Given the description of an element on the screen output the (x, y) to click on. 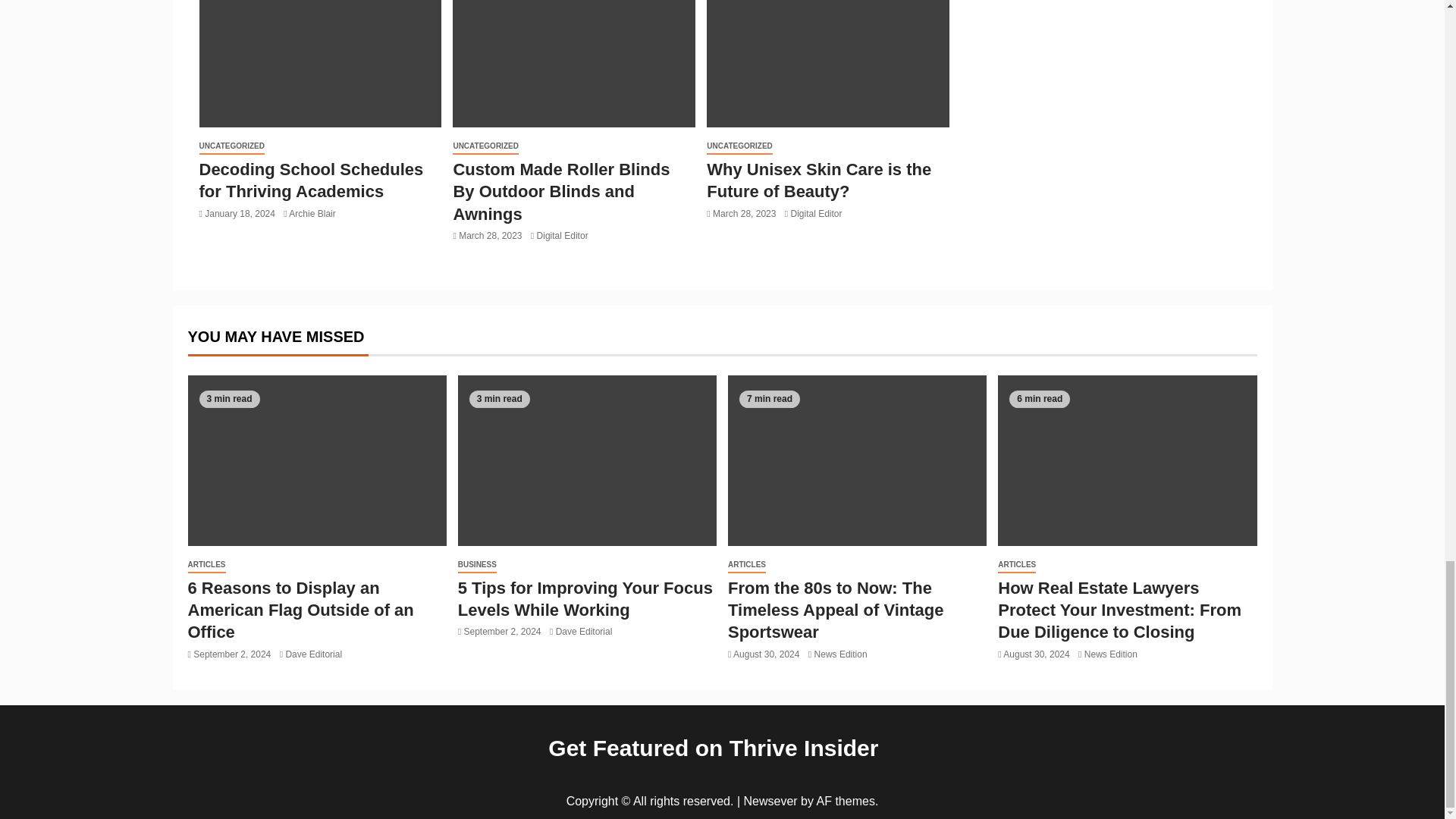
Decoding School Schedules for Thriving Academics (310, 179)
6 Reasons to Display an American Flag Outside of an Office (300, 610)
Digital Editor (815, 213)
Archie Blair (311, 213)
Digital Editor (562, 235)
ARTICLES (206, 565)
UNCATEGORIZED (485, 146)
Custom Made Roller Blinds By Outdoor Blinds and Awnings (560, 191)
UNCATEGORIZED (230, 146)
UNCATEGORIZED (738, 146)
